Given the description of an element on the screen output the (x, y) to click on. 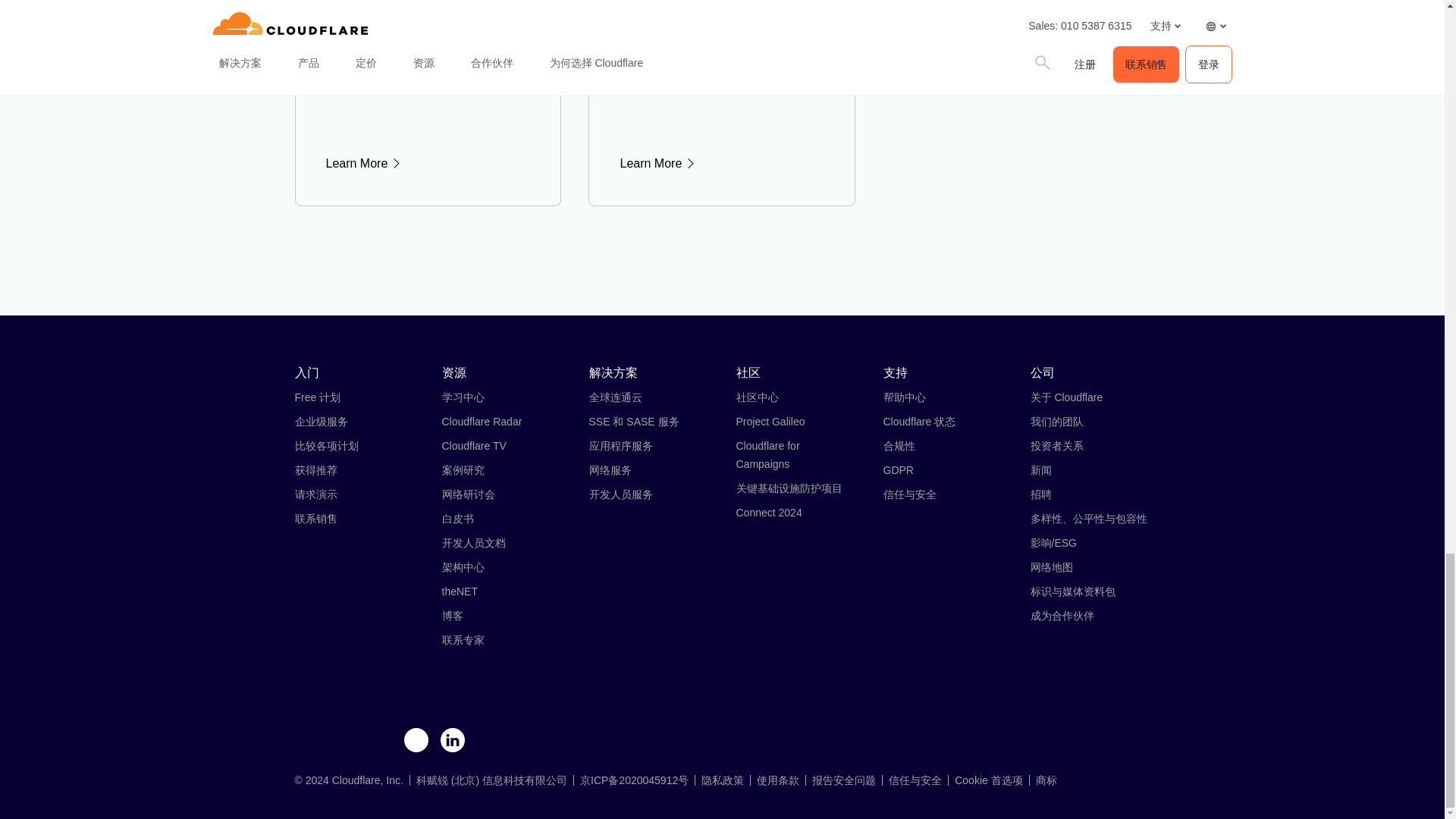
LinkedIn (451, 741)
Zhihu (378, 741)
Tiktok (415, 741)
WeChat (306, 741)
Learn More (428, 164)
Weibo (342, 741)
Learn More (722, 164)
